Given the description of an element on the screen output the (x, y) to click on. 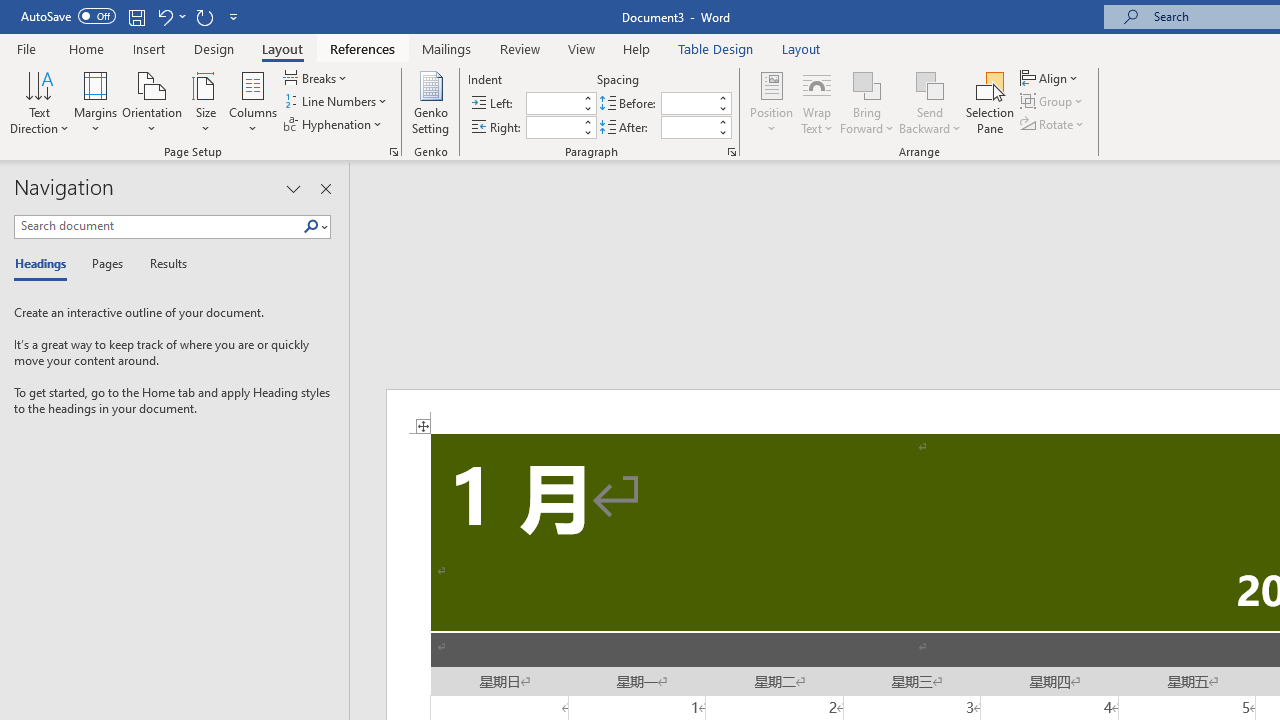
Bring Forward (867, 84)
More Options (930, 121)
Results (161, 264)
Selection Pane... (990, 102)
Hyphenation (334, 124)
Task Pane Options (293, 188)
Search (315, 227)
Help (637, 48)
Spacing Before (687, 103)
Indent Right (552, 127)
Less (722, 132)
Group (1053, 101)
Send Backward (930, 102)
Line Numbers (337, 101)
